Given the description of an element on the screen output the (x, y) to click on. 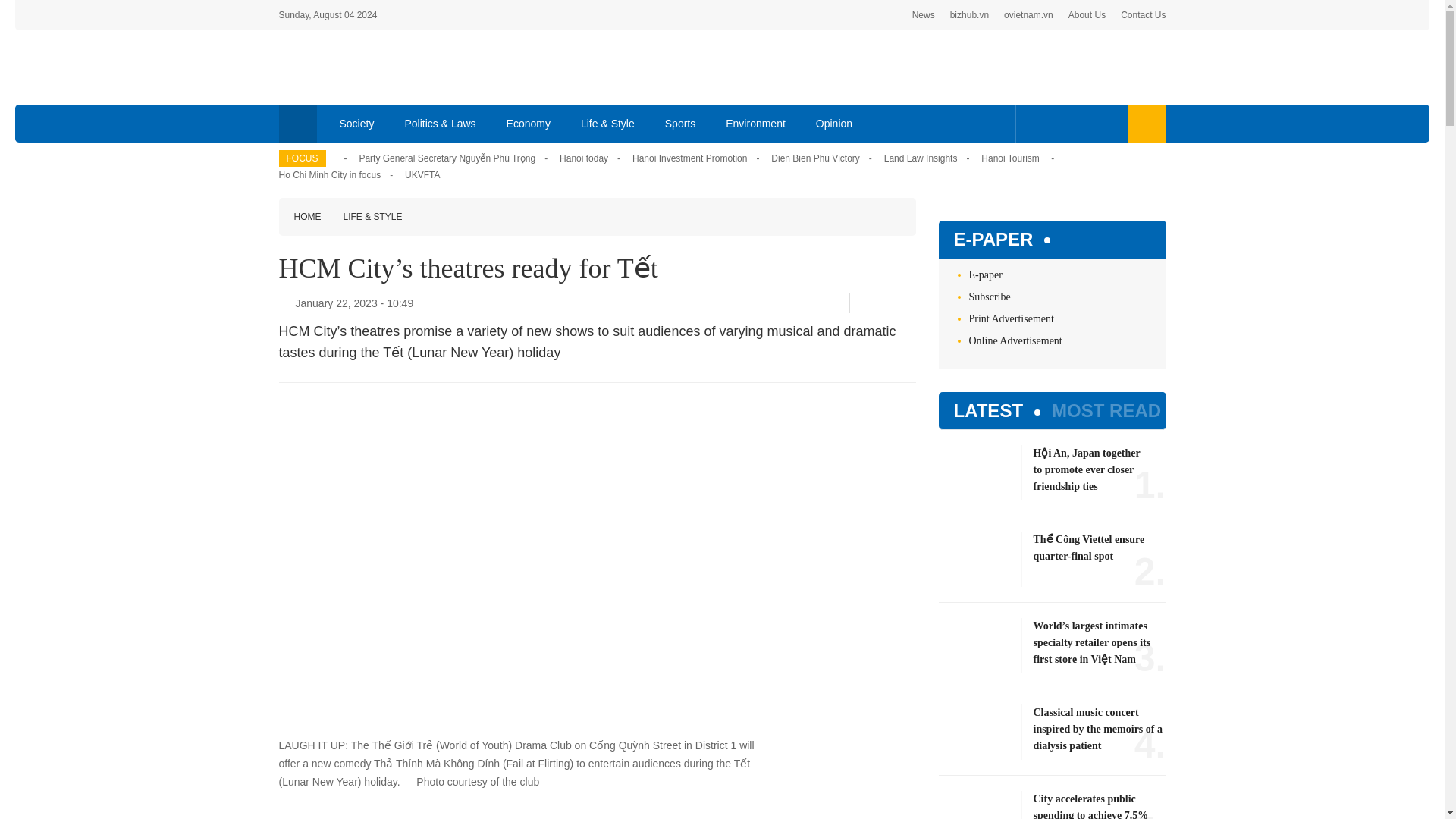
Instagram (1106, 123)
Twitter (1056, 122)
Email (909, 303)
Facebook (1035, 123)
Twitter (885, 303)
Opinion (833, 123)
About Us (1086, 15)
Sports (679, 123)
Youtube (1081, 122)
Contact Us (1143, 15)
bizhub.vn (969, 15)
ovietnam.vn (1028, 15)
Facebook (865, 303)
Environment (755, 123)
Economy (529, 123)
